Given the description of an element on the screen output the (x, y) to click on. 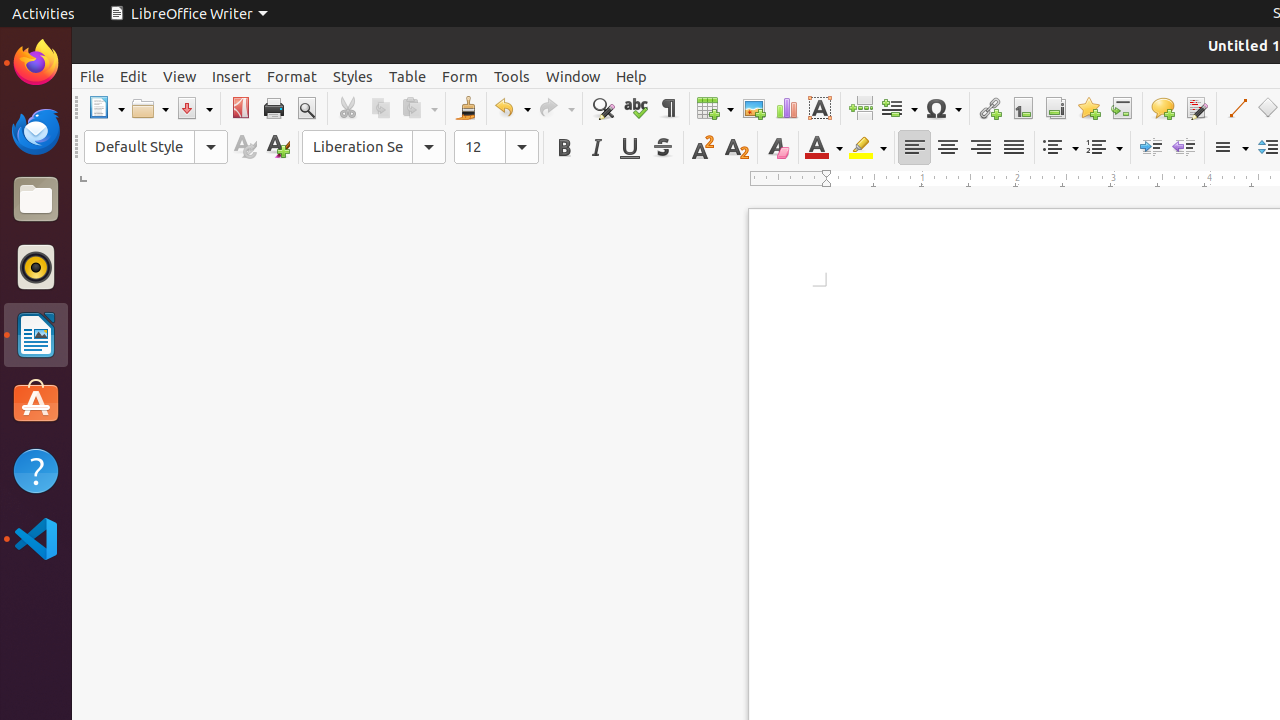
Justified Element type: toggle-button (1013, 147)
Highlight Color Element type: push-button (868, 147)
Bookmark Element type: push-button (1088, 108)
LibreOffice Writer Element type: menu (188, 13)
Strikethrough Element type: toggle-button (662, 147)
